Given the description of an element on the screen output the (x, y) to click on. 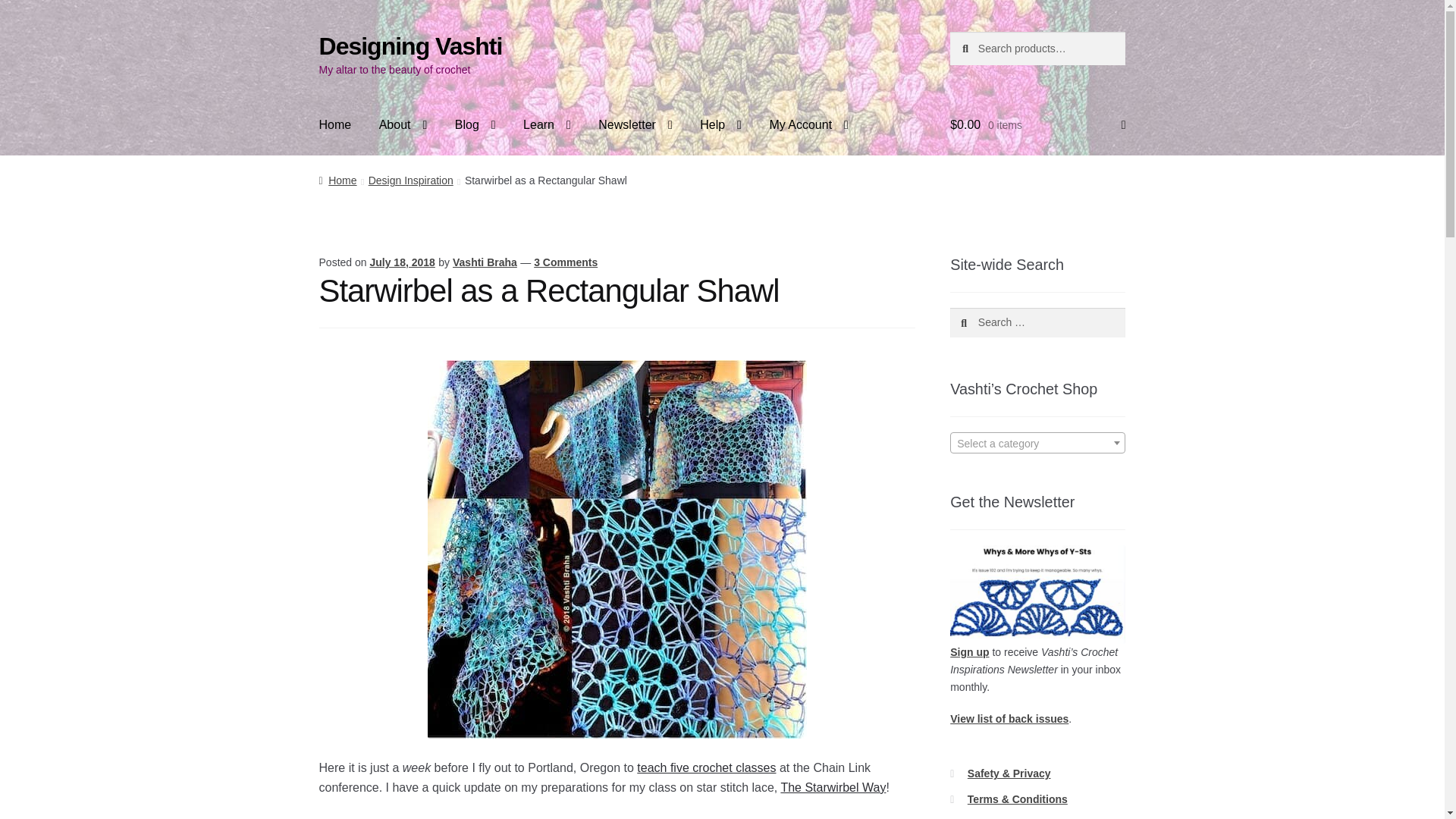
Designing Vashti (410, 45)
Blog (475, 124)
Home (335, 124)
View your shopping cart (1037, 124)
Newsletter (635, 124)
Learn (547, 124)
About (402, 124)
